Given the description of an element on the screen output the (x, y) to click on. 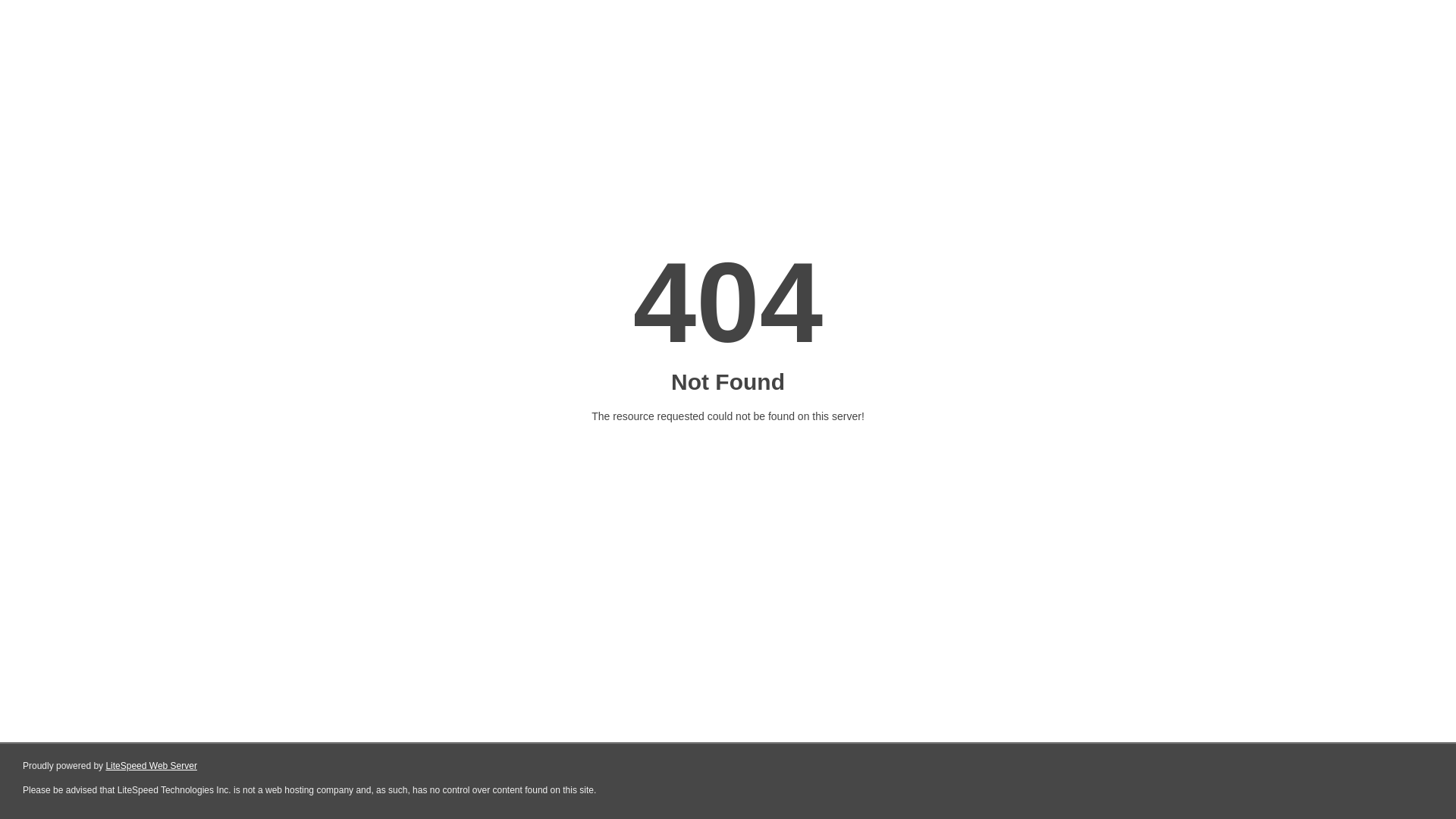
LiteSpeed Web Server Element type: text (151, 765)
